Given the description of an element on the screen output the (x, y) to click on. 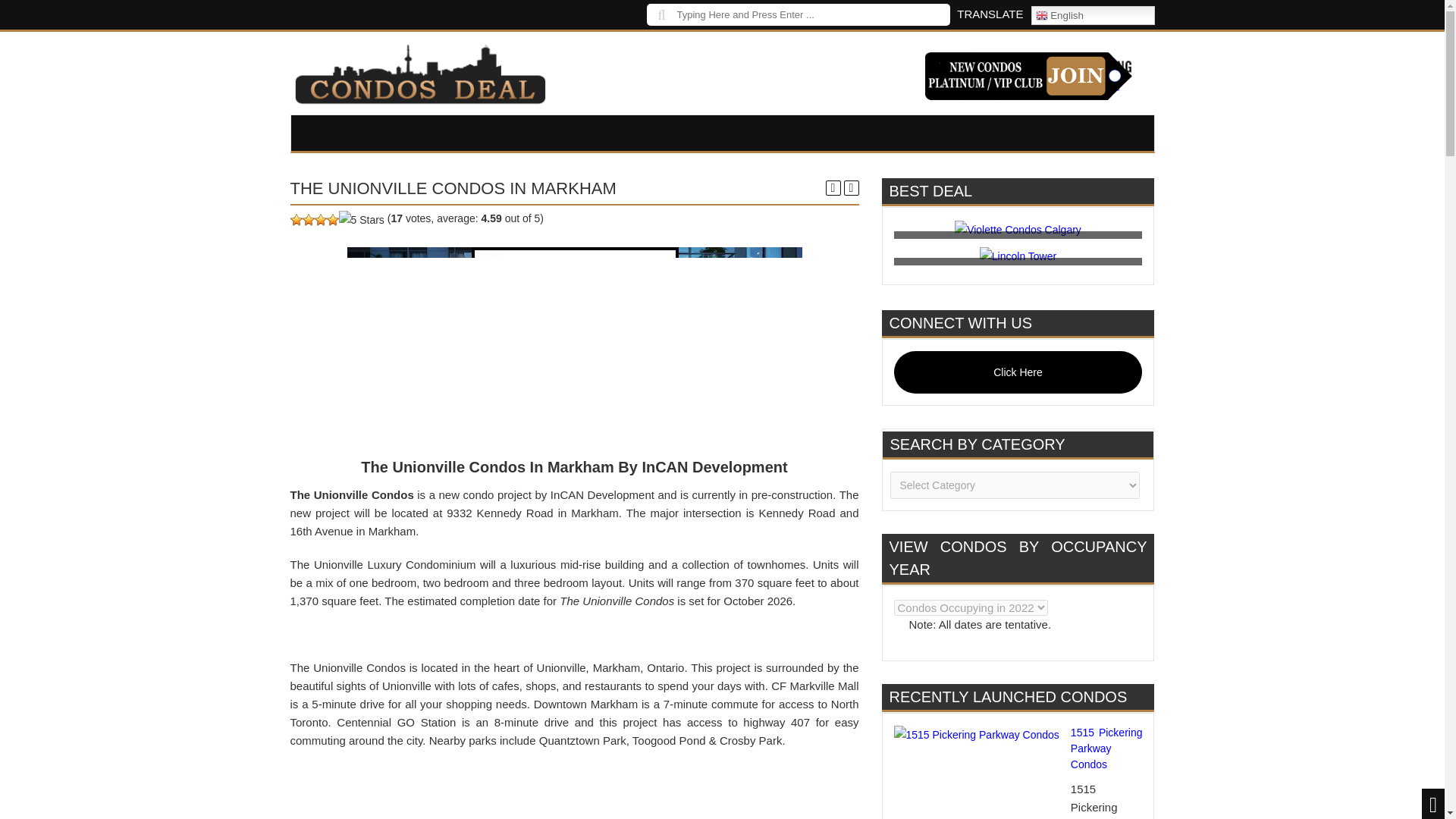
2 Stars (307, 219)
4 Stars (331, 219)
3 Stars (320, 219)
5 Stars (360, 219)
1 Star (295, 219)
English (1092, 15)
